Given the description of an element on the screen output the (x, y) to click on. 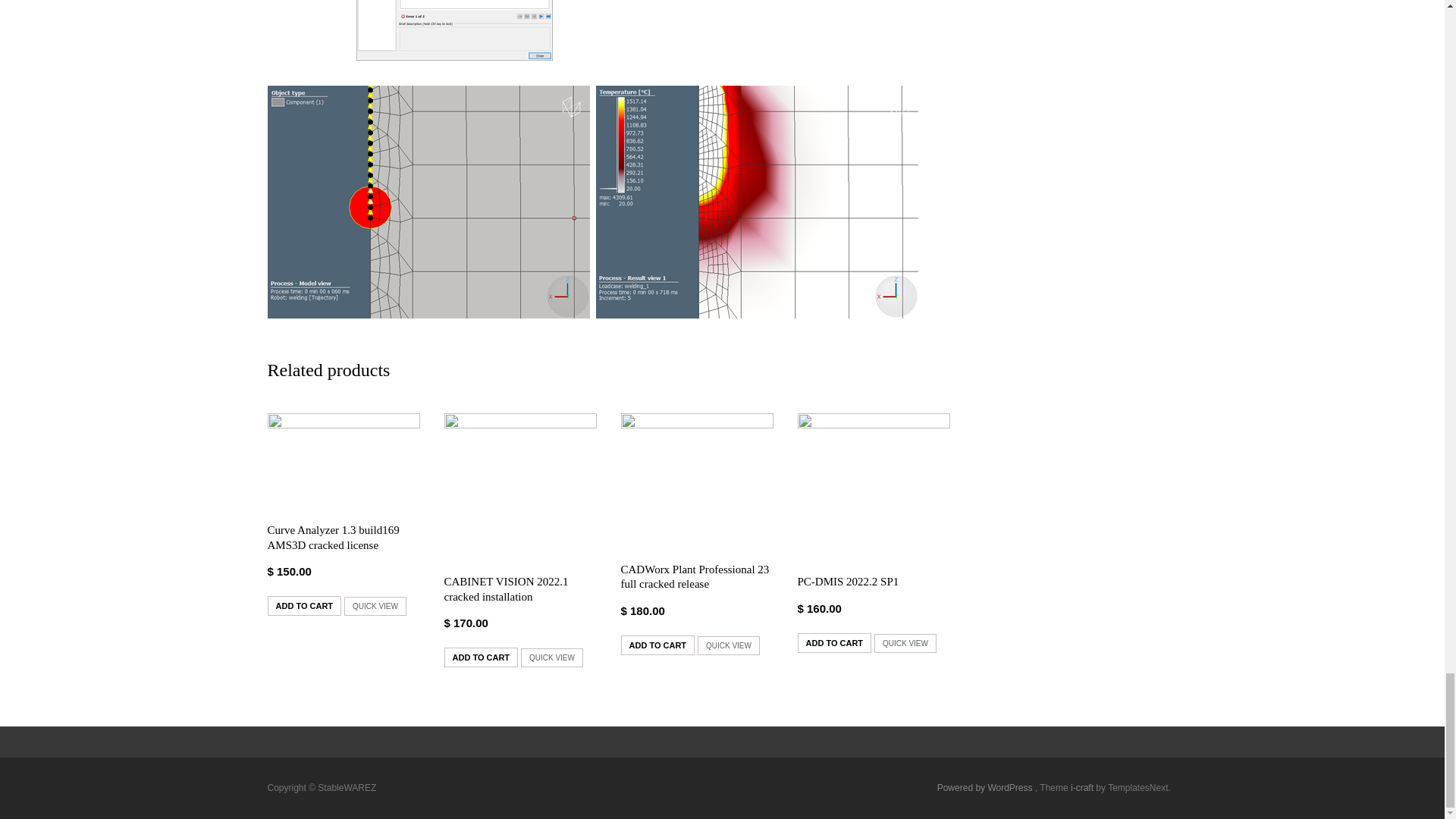
ADD TO CART (303, 605)
QUICK VIEW (728, 645)
WordPress WooCommerce Theme (1083, 787)
QUICK VIEW (552, 657)
QUICK VIEW (374, 606)
ADD TO CART (481, 657)
QUICK VIEW (905, 642)
Semantic Personal Publishing Platform (986, 787)
ADD TO CART (834, 642)
ADD TO CART (657, 645)
